Given the description of an element on the screen output the (x, y) to click on. 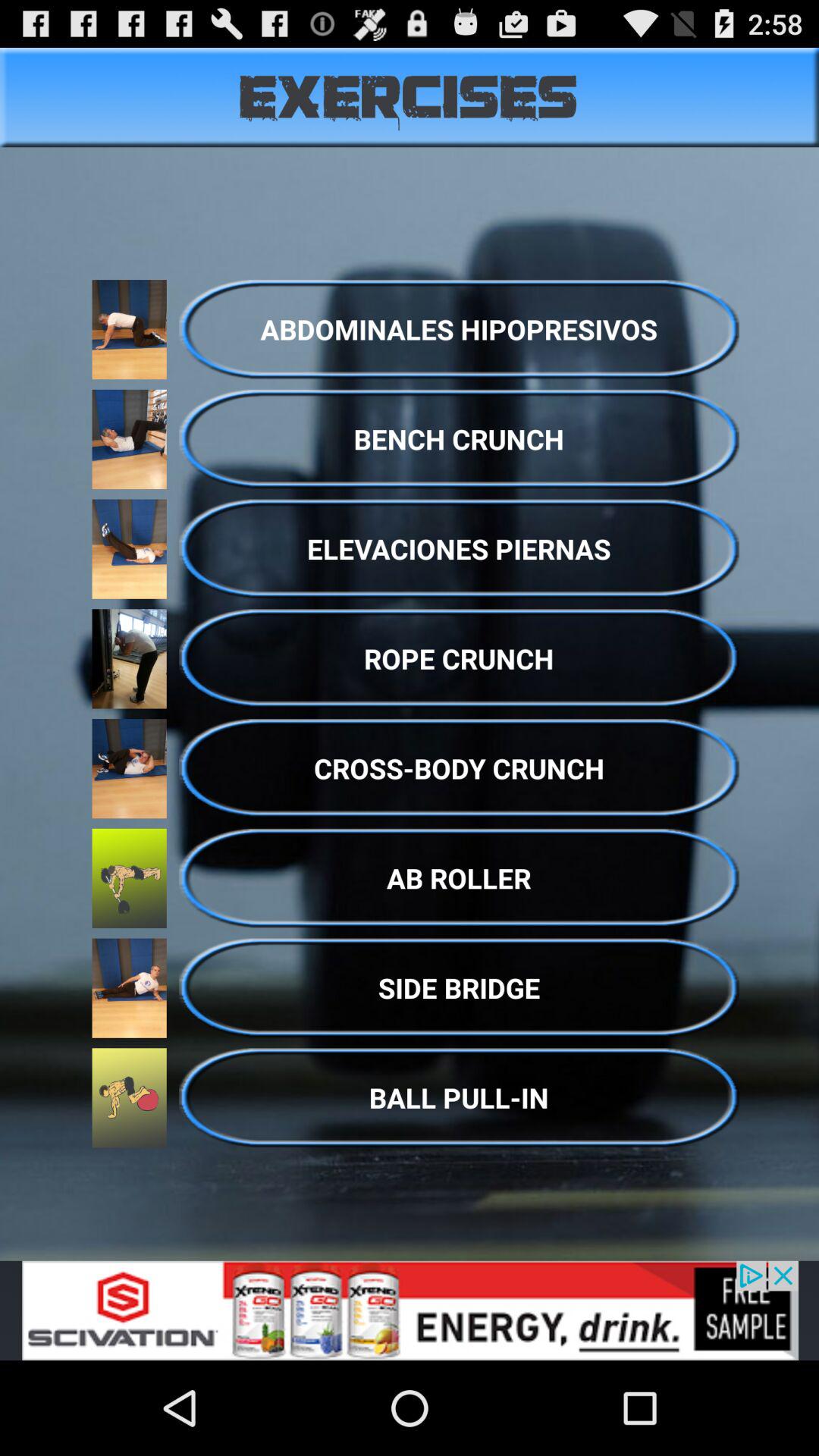
click to view advertisements options (409, 1310)
